Given the description of an element on the screen output the (x, y) to click on. 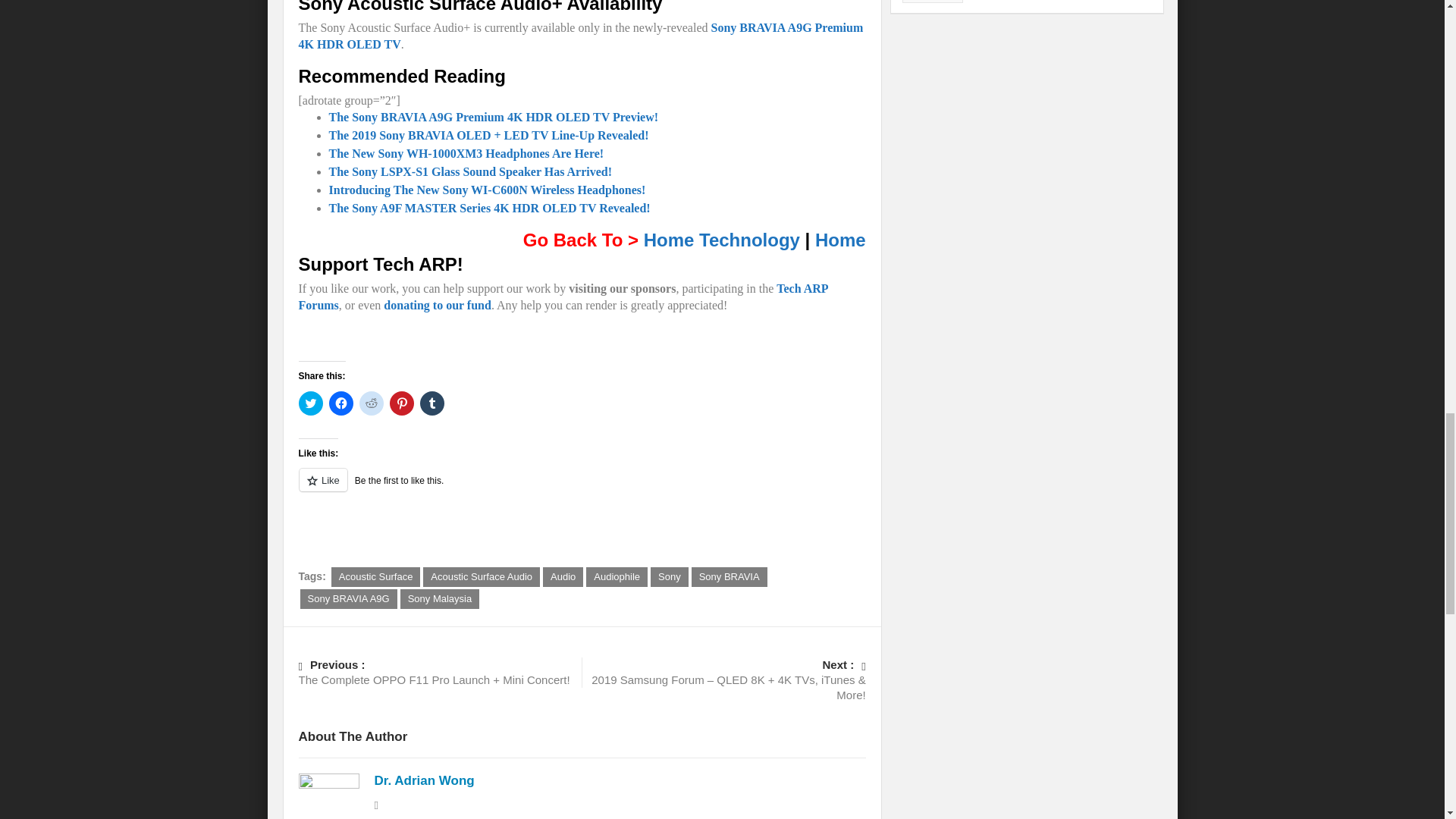
Click to share on Reddit (371, 403)
Click to share on Pinterest (401, 403)
Like or Reblog (582, 488)
Click to share on Twitter (310, 403)
Click to share on Tumblr (432, 403)
Click to share on Facebook (341, 403)
